Given the description of an element on the screen output the (x, y) to click on. 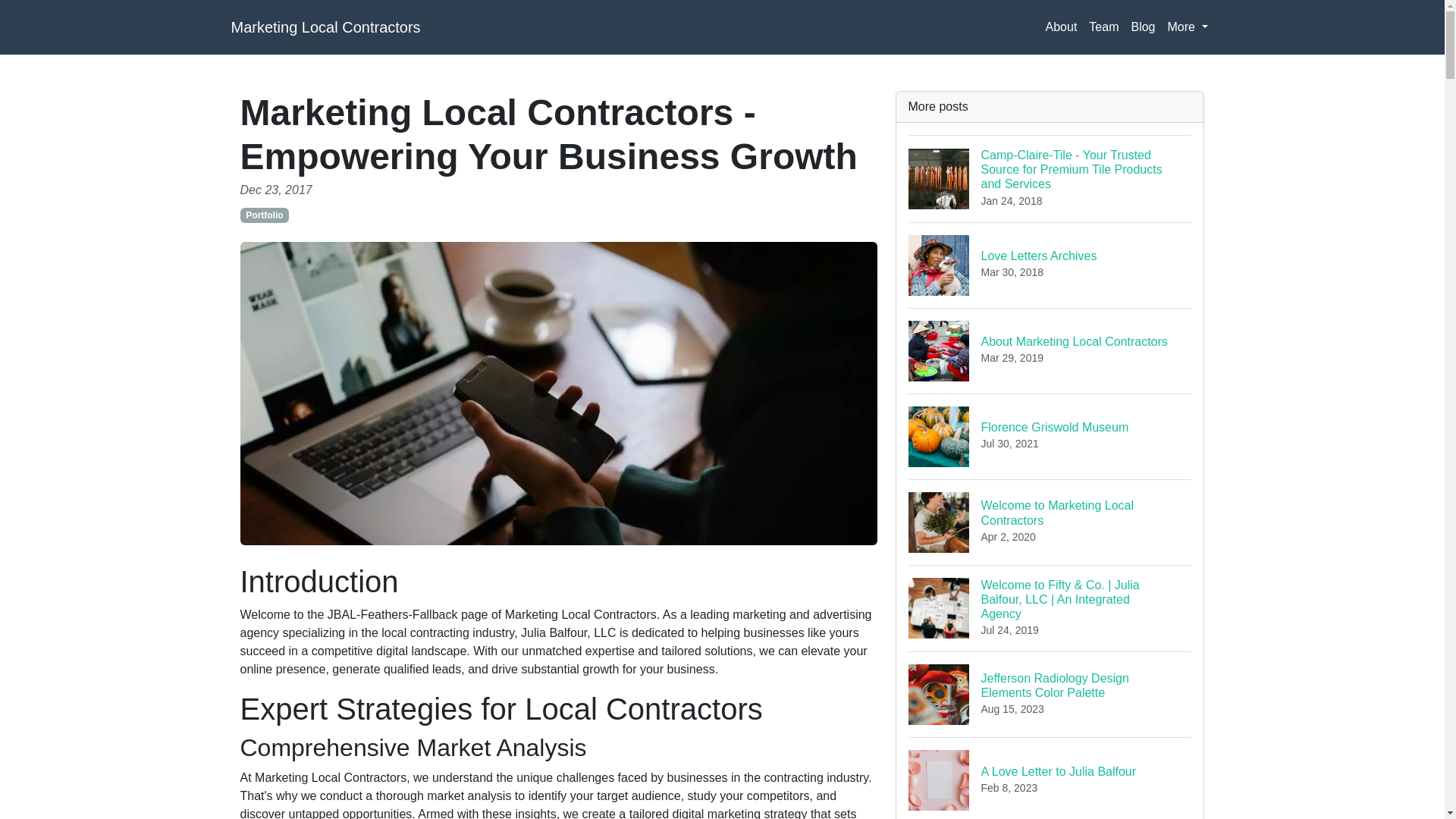
More (1187, 27)
About (1061, 27)
Team (1103, 27)
Blog (1050, 350)
Marketing Local Contractors (1142, 27)
Portfolio (325, 27)
